Given the description of an element on the screen output the (x, y) to click on. 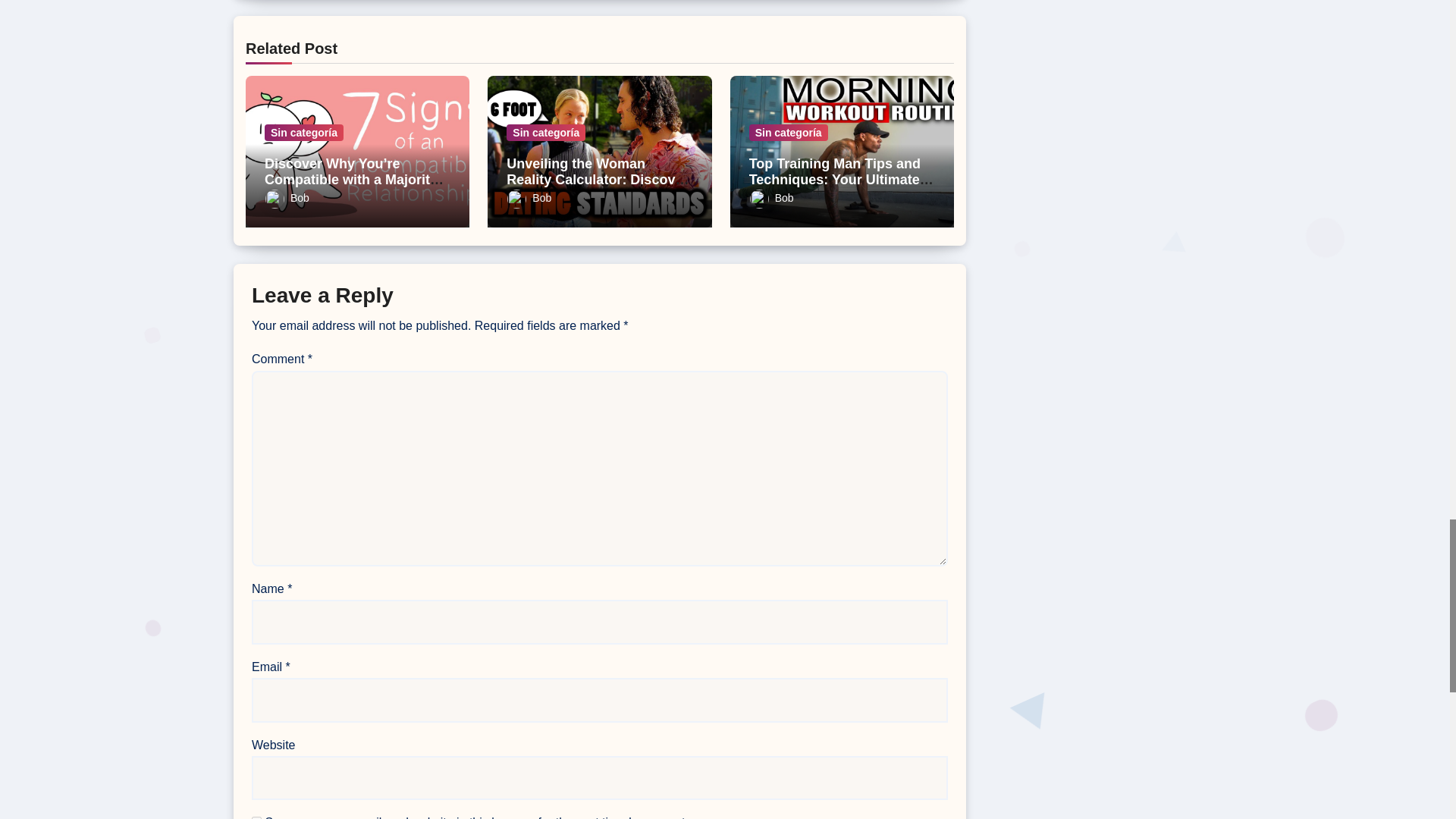
Bob (286, 197)
